Given the description of an element on the screen output the (x, y) to click on. 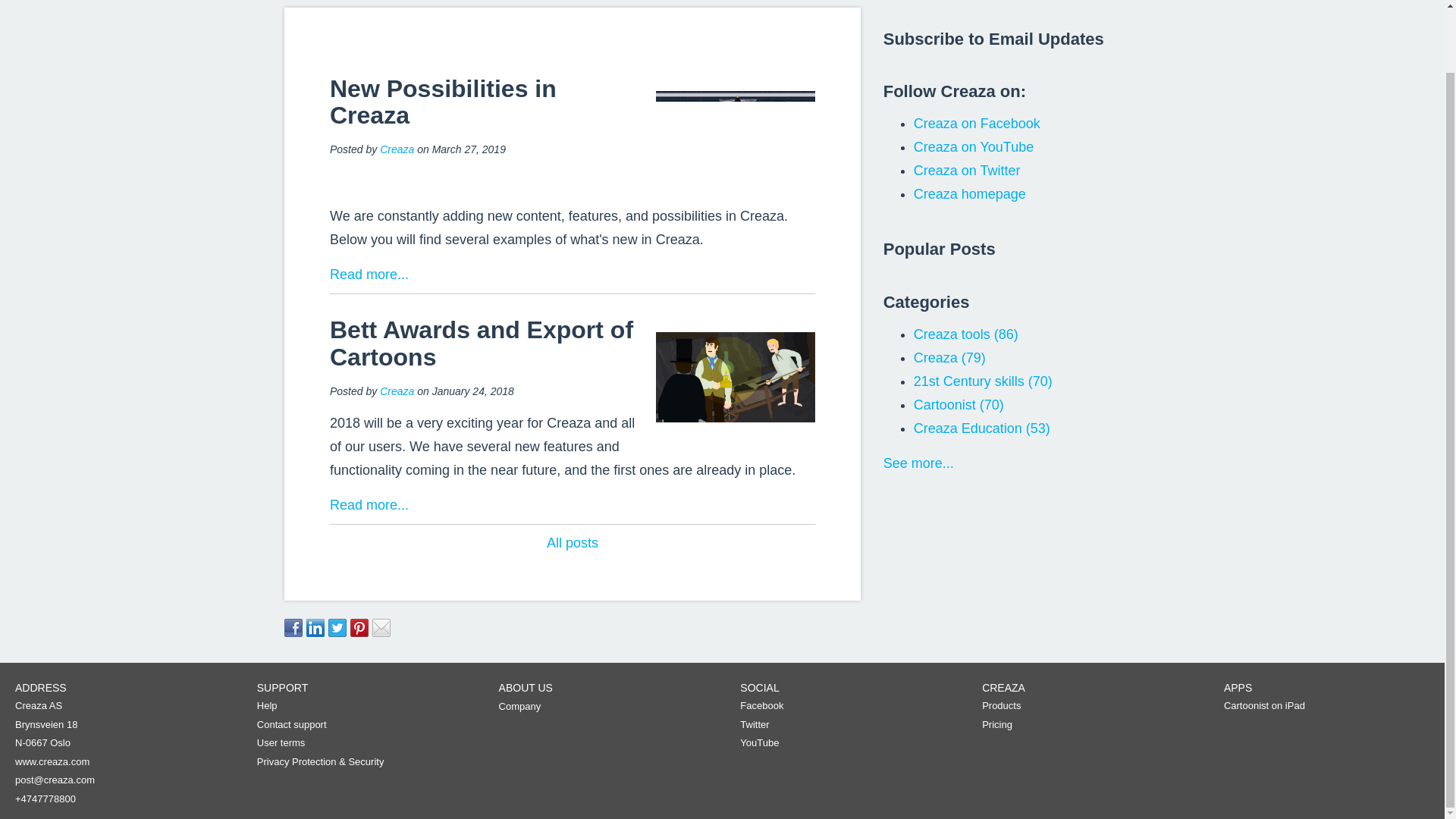
All posts (572, 542)
New Possibilities in Creaza (443, 101)
Read more... (369, 274)
Creaza homepage (970, 193)
Creaza on YouTube (973, 146)
Creaza on Facebook (977, 123)
Creaza (396, 149)
Bett Awards and Export of Cartoons (481, 343)
Creaza on Twitter (967, 170)
Read more... (369, 504)
